Given the description of an element on the screen output the (x, y) to click on. 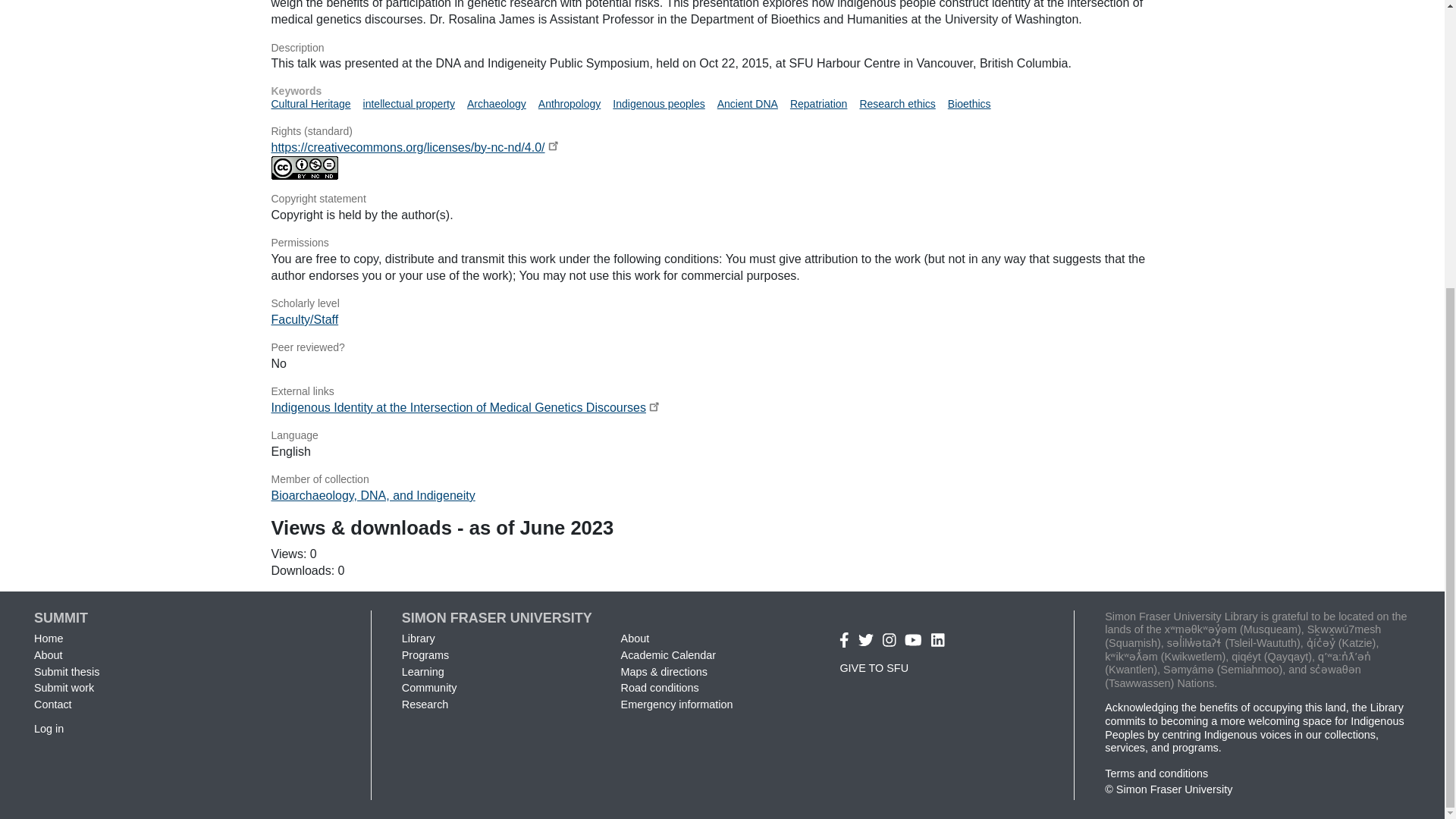
Copyright statement (721, 199)
Peer reviewed? (721, 347)
About (47, 654)
Archaeology (496, 103)
Member of collection (721, 479)
Description (721, 48)
intellectual property (408, 103)
Permissions (721, 242)
Language (721, 435)
Cultural Heritage (310, 103)
Bioarchaeology, DNA, and Indigeneity (373, 495)
Repatriation (818, 103)
Ancient DNA (747, 103)
Home (47, 638)
Research ethics (896, 103)
